Given the description of an element on the screen output the (x, y) to click on. 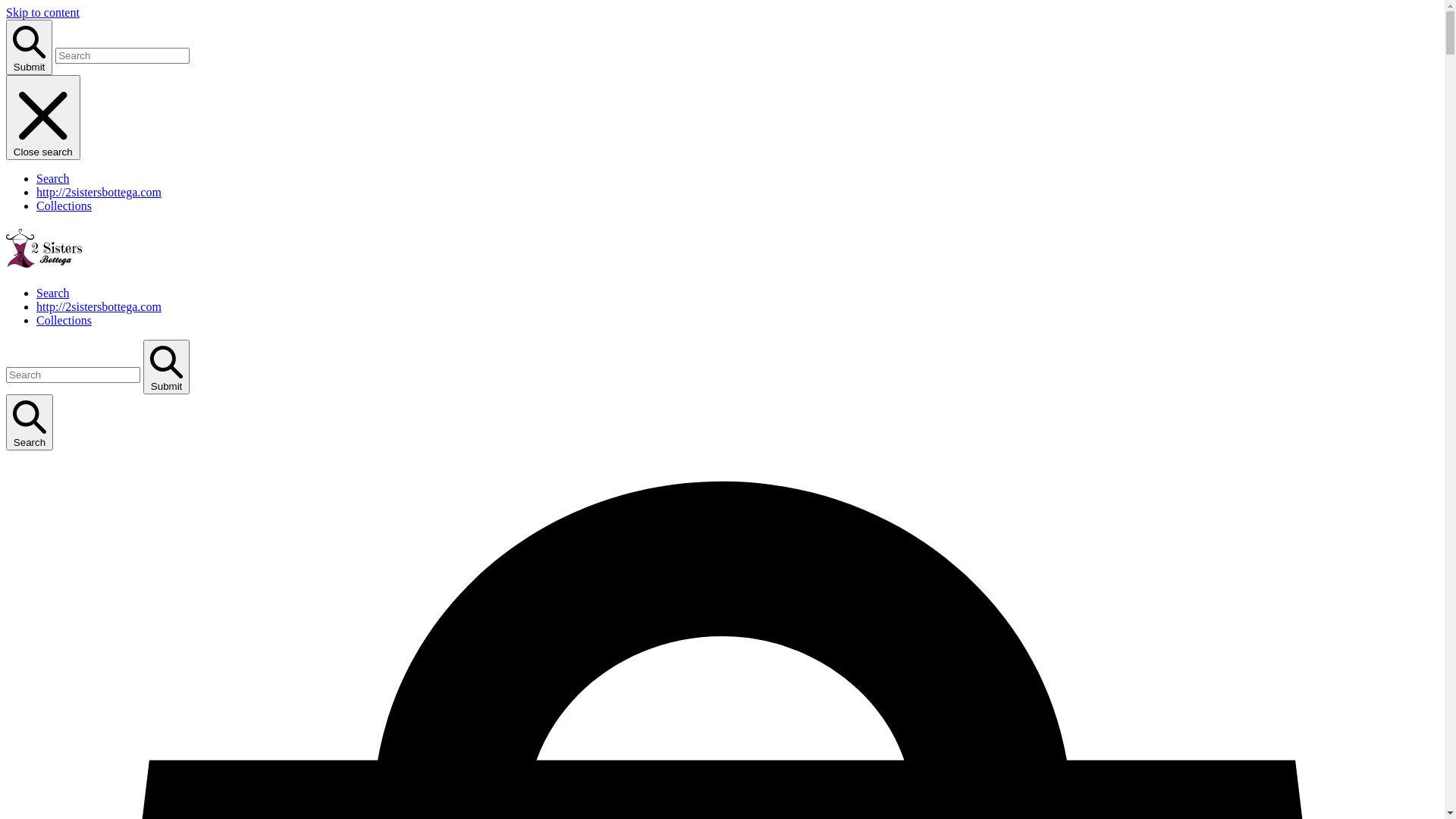
http://2sistersbottega.com Element type: text (98, 306)
http://2sistersbottega.com Element type: text (98, 191)
Search Element type: text (52, 292)
Collections Element type: text (63, 205)
Skip to content Element type: text (42, 12)
Collections Element type: text (63, 319)
Submit Element type: text (166, 367)
Search Element type: text (29, 422)
Close search Element type: text (43, 117)
Submit Element type: text (29, 47)
Search Element type: text (52, 178)
